Given the description of an element on the screen output the (x, y) to click on. 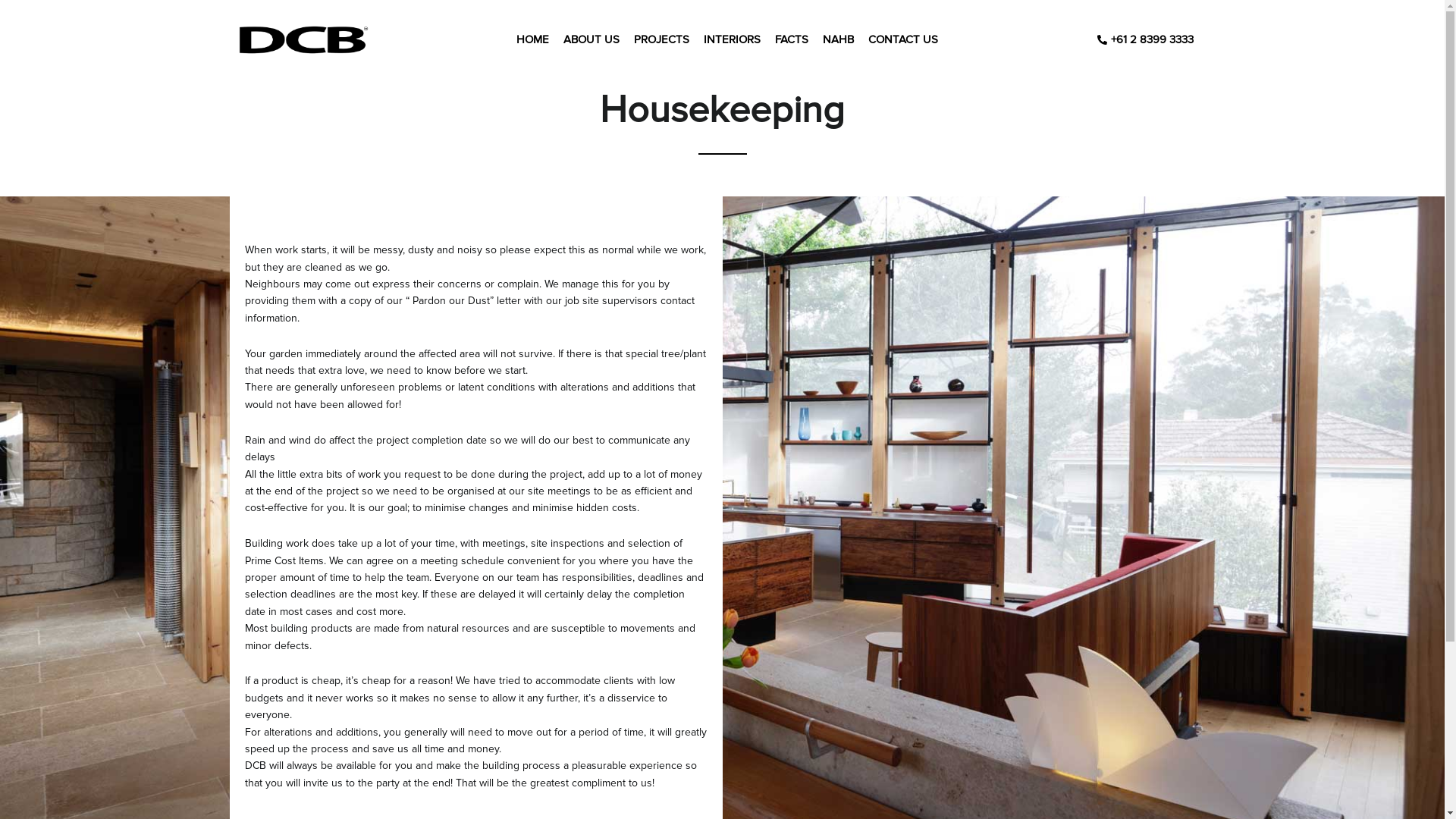
+61 2 8399 3333 Element type: text (1144, 39)
FACTS Element type: text (791, 39)
ABOUT US Element type: text (591, 39)
NAHB Element type: text (838, 39)
INTERIORS Element type: text (731, 39)
PROJECTS Element type: text (661, 39)
CONTACT US Element type: text (902, 39)
HOME Element type: text (532, 39)
